Given the description of an element on the screen output the (x, y) to click on. 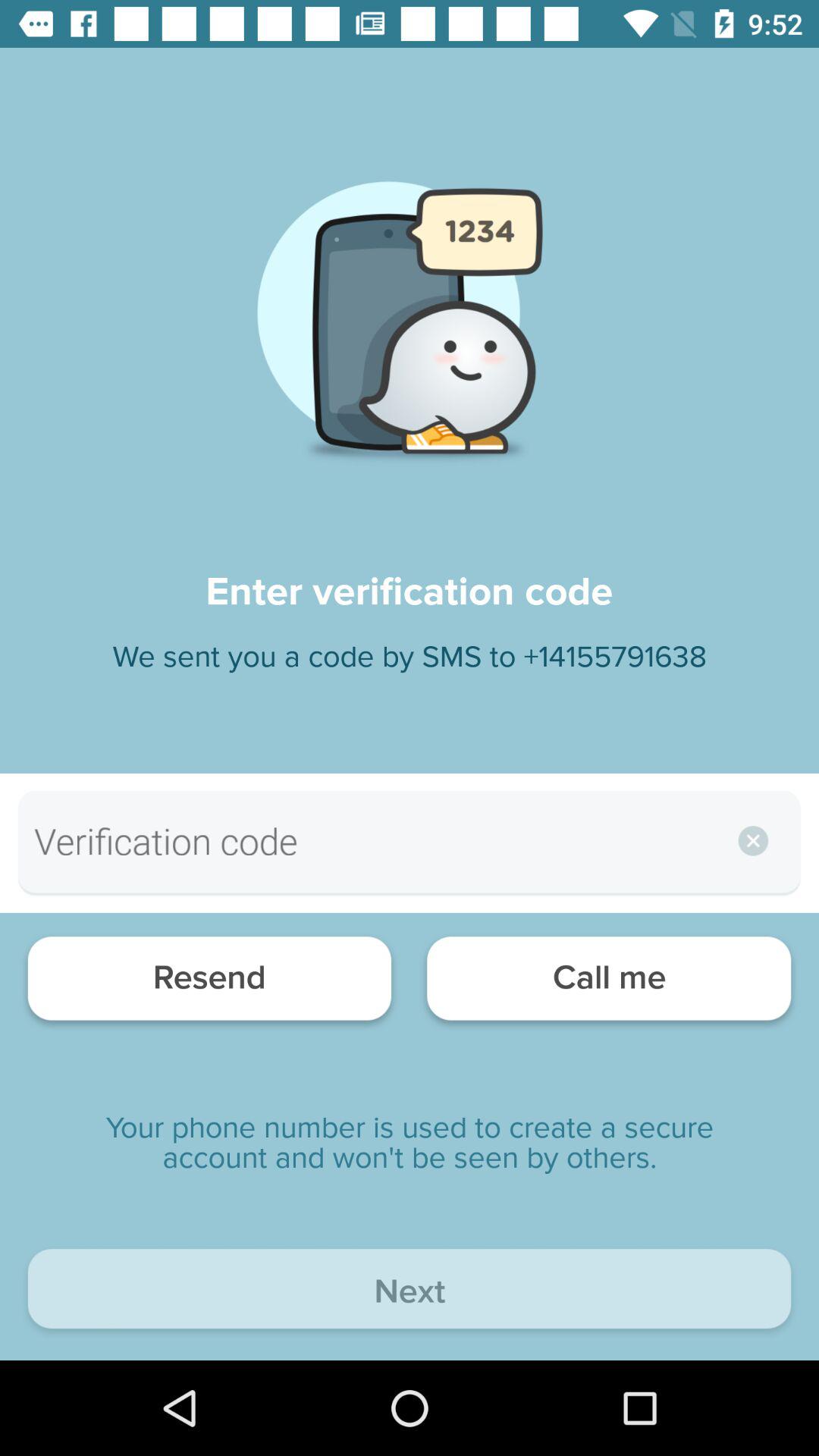
turn on icon below the your phone number icon (409, 1292)
